Given the description of an element on the screen output the (x, y) to click on. 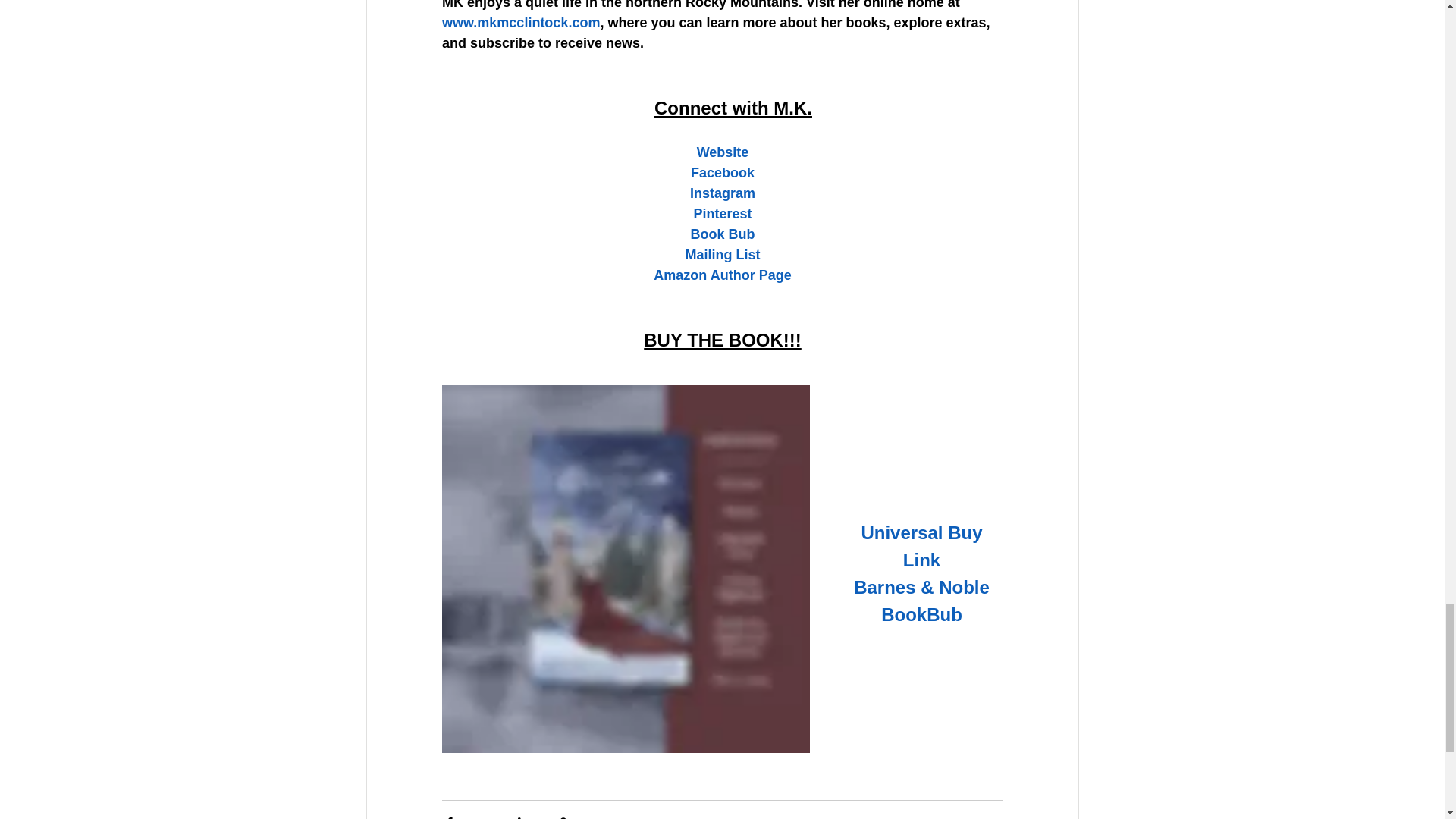
Universal Buy Link (923, 548)
Pinterest (722, 213)
Website (721, 151)
Amazon Author Page (721, 274)
Book Bub (722, 233)
Instagram (721, 192)
Excerpts (981, 817)
BookBub (921, 616)
Facebook (722, 172)
www.mkmcclintock.com (519, 22)
